Given the description of an element on the screen output the (x, y) to click on. 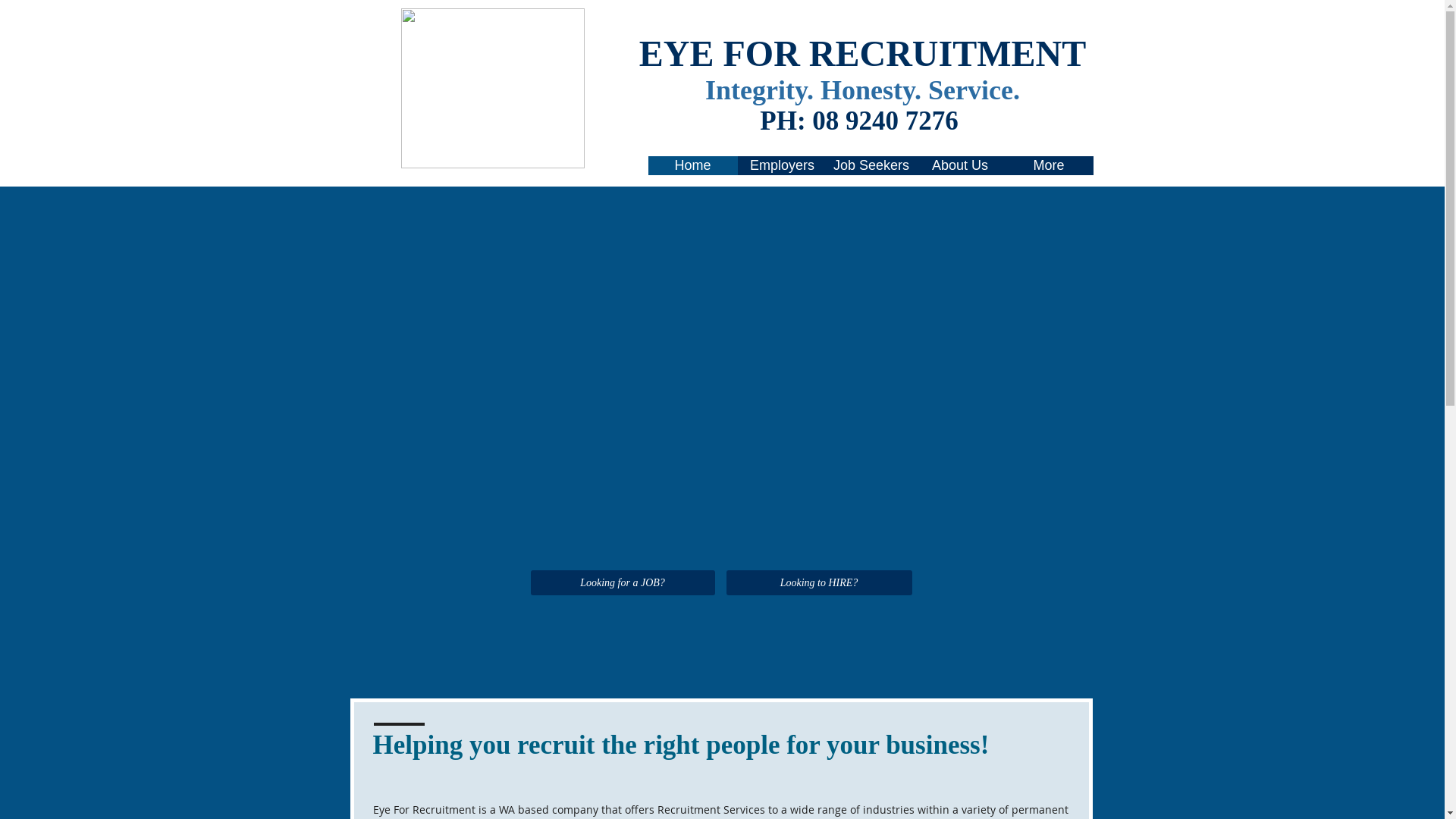
About Us Element type: text (960, 165)
Job Seekers Element type: text (870, 165)
Looking for a JOB? Element type: text (622, 582)
Home Element type: text (692, 165)
Looking to HIRE? Element type: text (819, 582)
Employers Element type: text (781, 165)
